Given the description of an element on the screen output the (x, y) to click on. 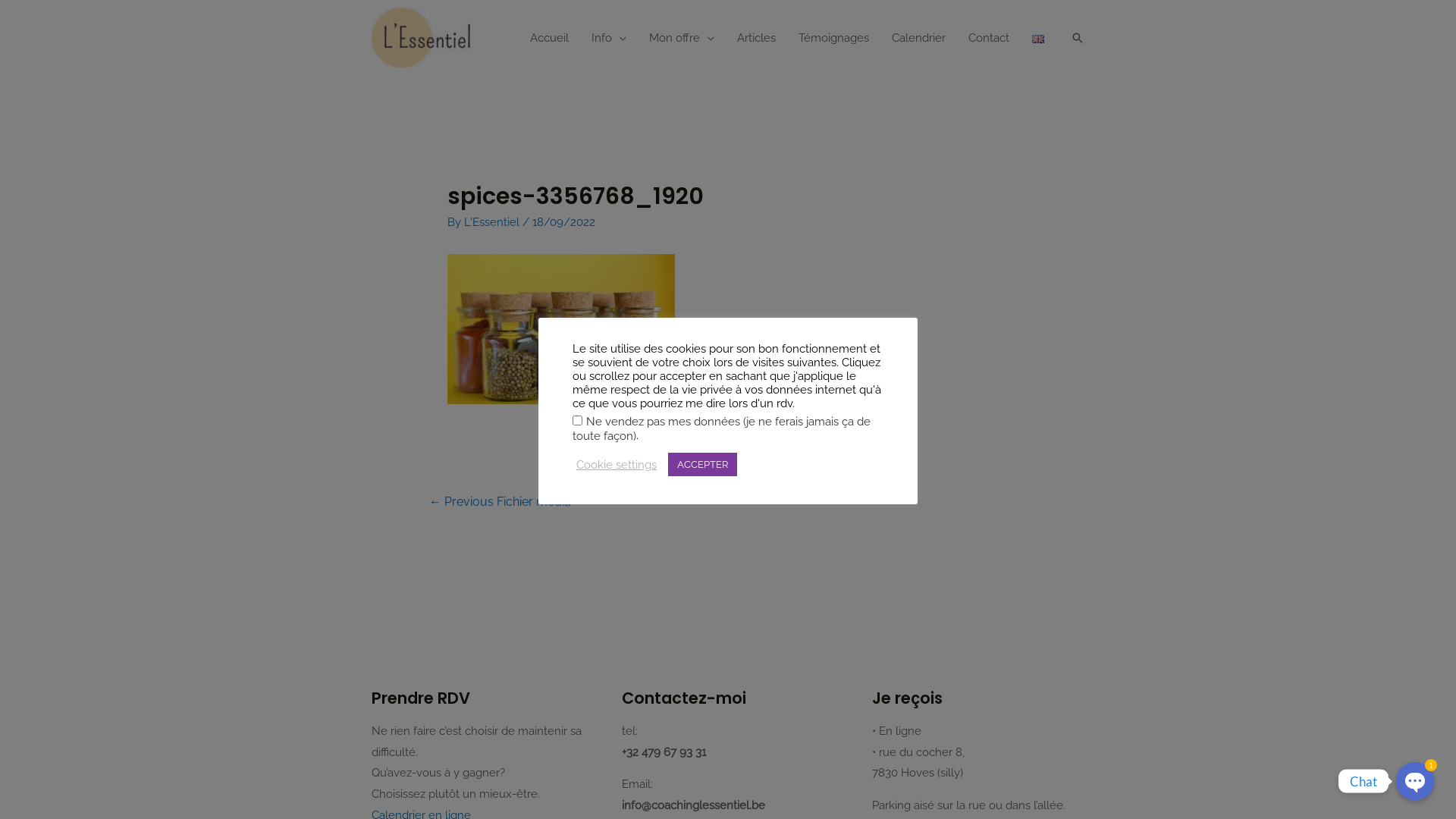
Mon offre Element type: text (681, 37)
Calendrier Element type: text (918, 37)
Articles Element type: text (756, 37)
L'Essentiel Element type: text (493, 222)
Contact Element type: text (988, 37)
ACCEPTER Element type: text (702, 464)
Search Element type: text (1077, 37)
Info Element type: text (608, 37)
Accueil Element type: text (549, 37)
Cookie settings Element type: text (616, 464)
